Given the description of an element on the screen output the (x, y) to click on. 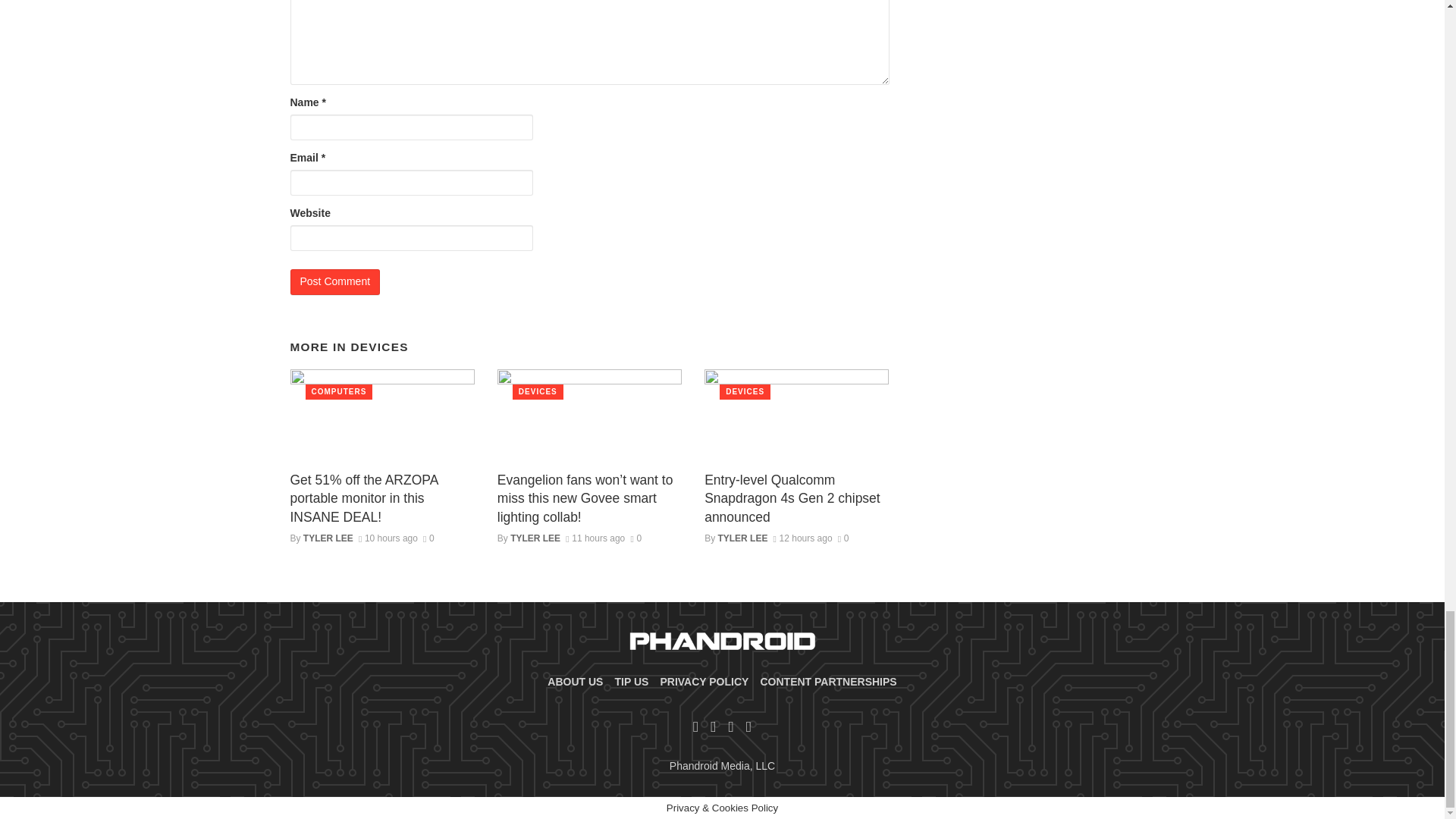
Post Comment (334, 281)
July 30, 2024 at 6:28 am (387, 538)
